Given the description of an element on the screen output the (x, y) to click on. 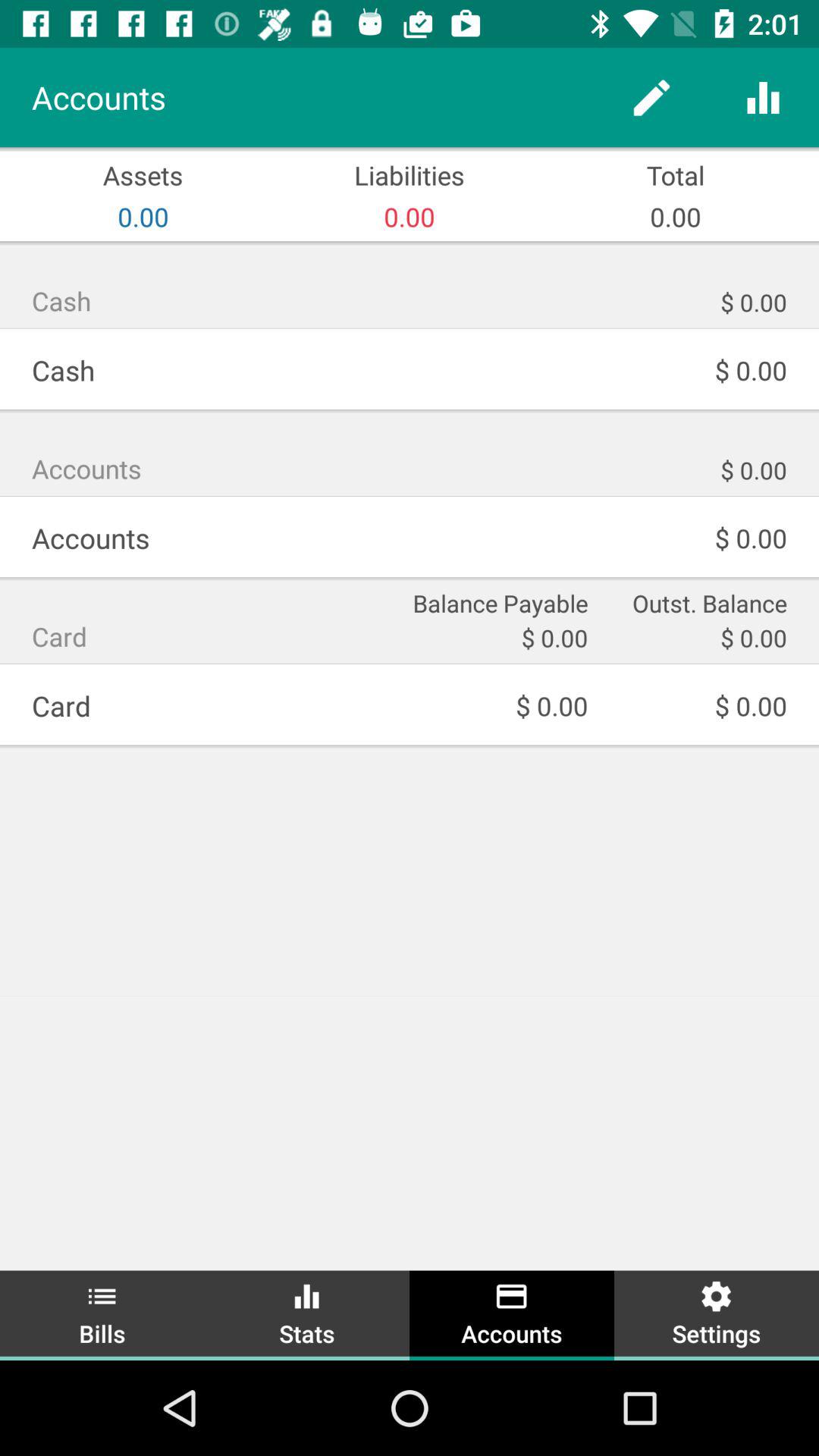
click the item below $ 0.00 (697, 601)
